Given the description of an element on the screen output the (x, y) to click on. 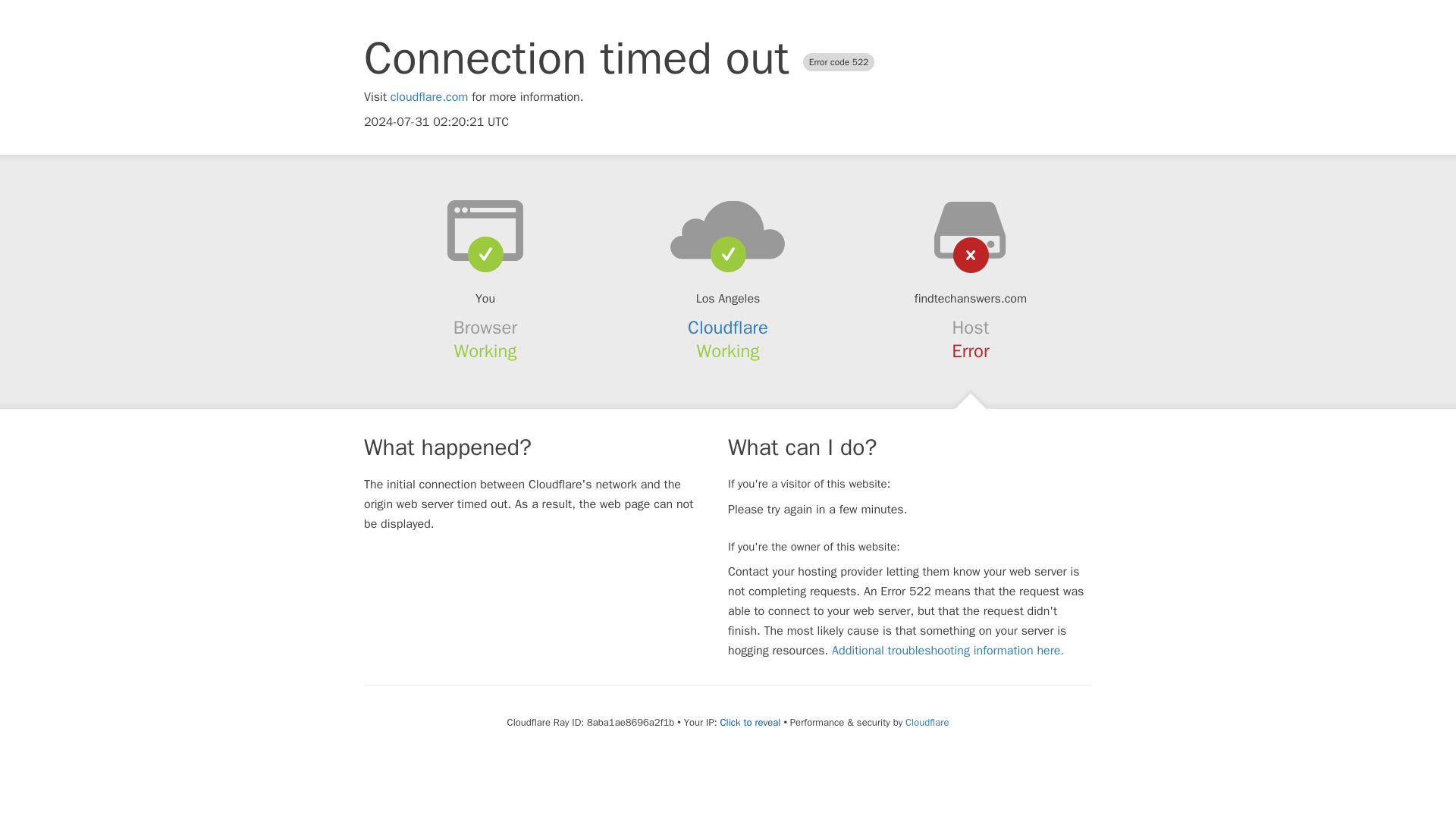
Additional troubleshooting information here. (947, 650)
cloudflare.com (429, 96)
Cloudflare (727, 327)
Cloudflare (927, 721)
Click to reveal (750, 722)
